Given the description of an element on the screen output the (x, y) to click on. 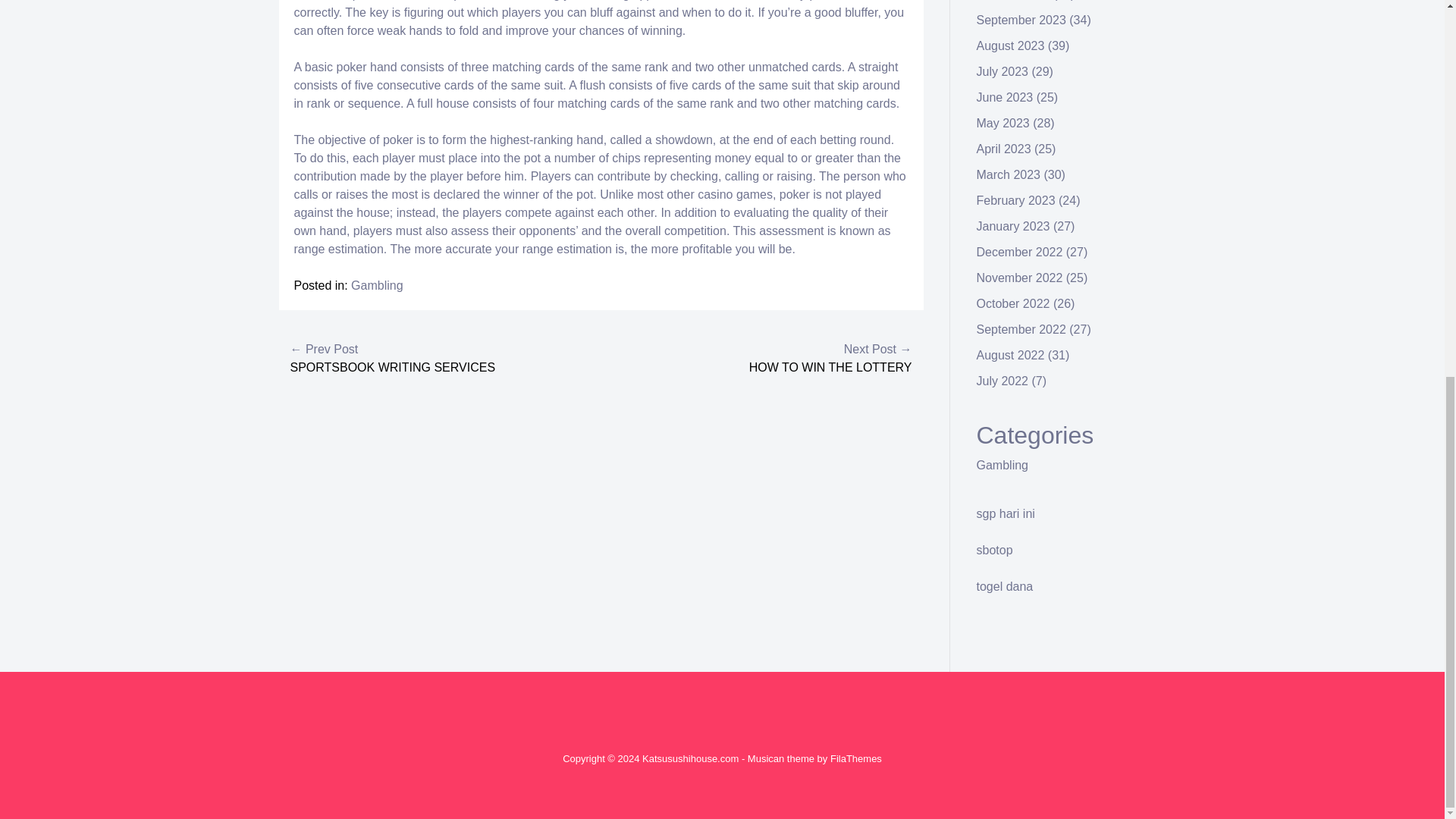
May 2023 (1002, 123)
April 2023 (1003, 148)
January 2023 (1012, 226)
October 2023 (1012, 0)
September 2022 (1020, 328)
December 2022 (1019, 251)
March 2023 (1008, 174)
February 2023 (1015, 200)
July 2022 (1002, 380)
November 2022 (1019, 277)
July 2023 (1002, 71)
September 2023 (1020, 19)
Gambling (1001, 464)
October 2022 (1012, 303)
Katsusushihouse.com (690, 758)
